Given the description of an element on the screen output the (x, y) to click on. 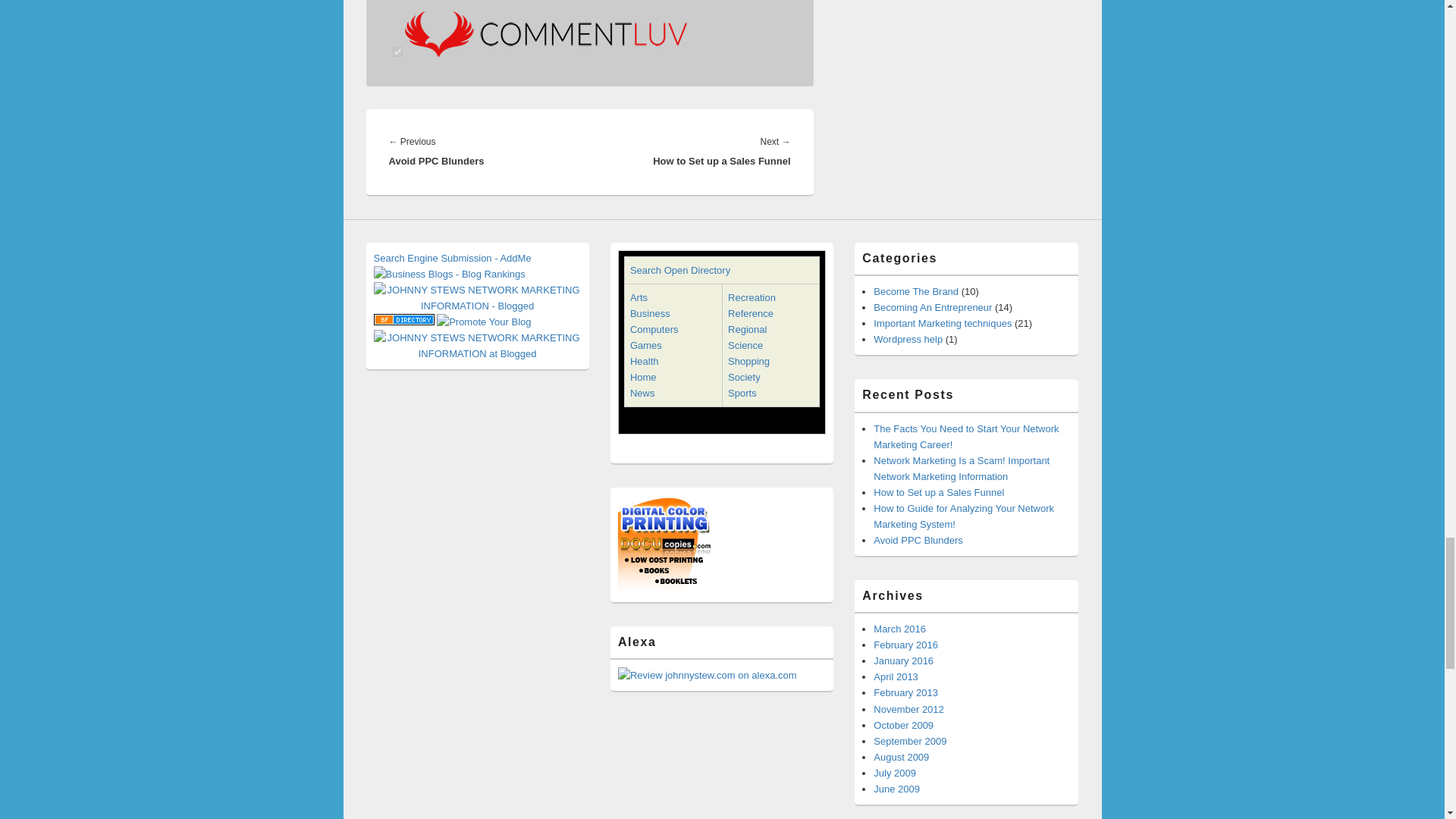
on (398, 51)
JOHNNY STEWS NETWORK MARKETING INFORMATION - Blogged (476, 297)
JOHNNY STEWS NETWORK MARKETING INFORMATION at Blogged (476, 345)
California Yellow Pages (402, 321)
Promote Your Blog For Free (483, 321)
